Given the description of an element on the screen output the (x, y) to click on. 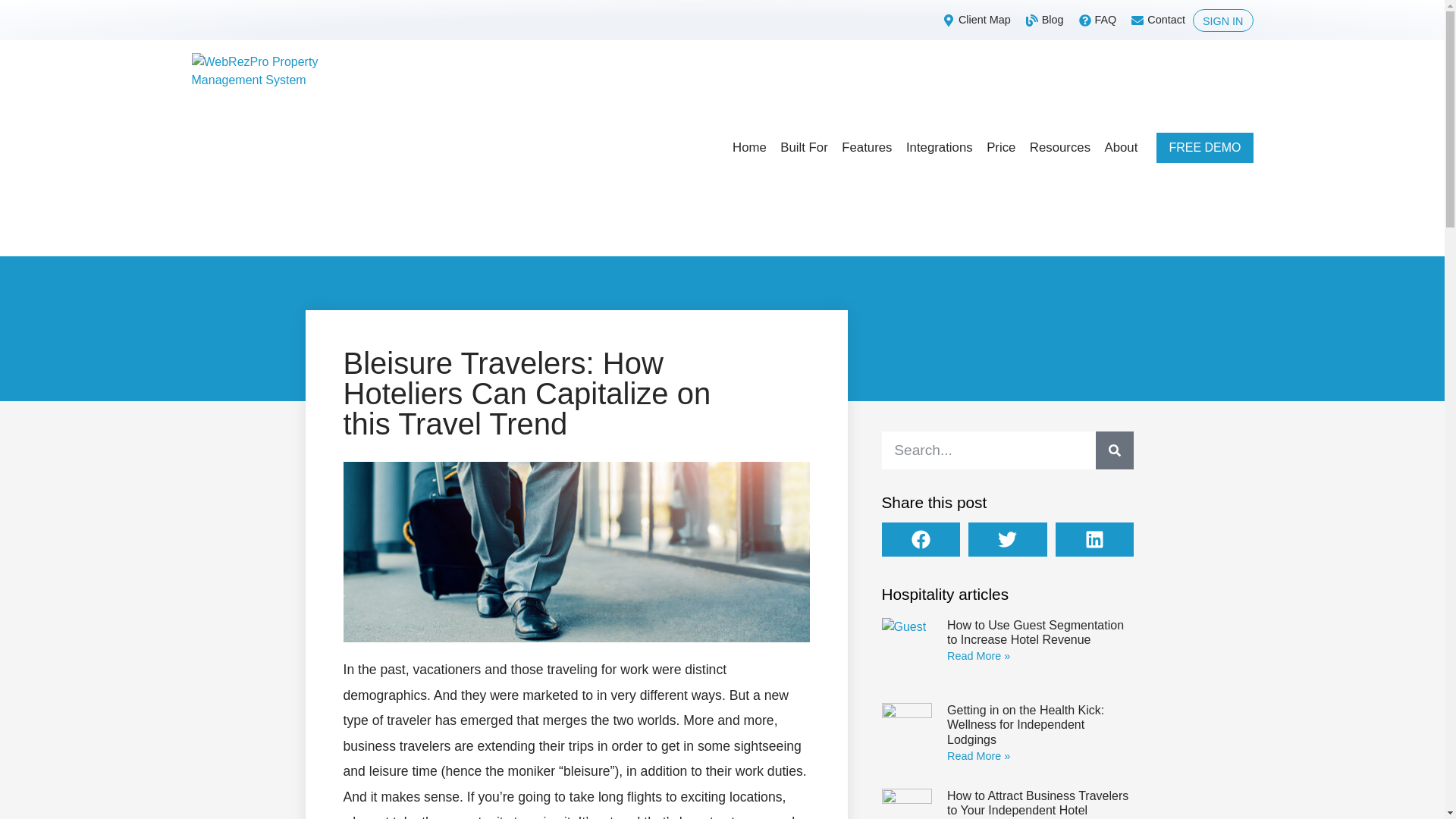
SIGN IN (1222, 20)
Blog (1043, 20)
Features (866, 147)
Resources (1059, 147)
FAQ (1095, 20)
Home (749, 147)
Price (1000, 147)
Built For (803, 147)
Integrations (938, 147)
Contact (1156, 20)
